Given the description of an element on the screen output the (x, y) to click on. 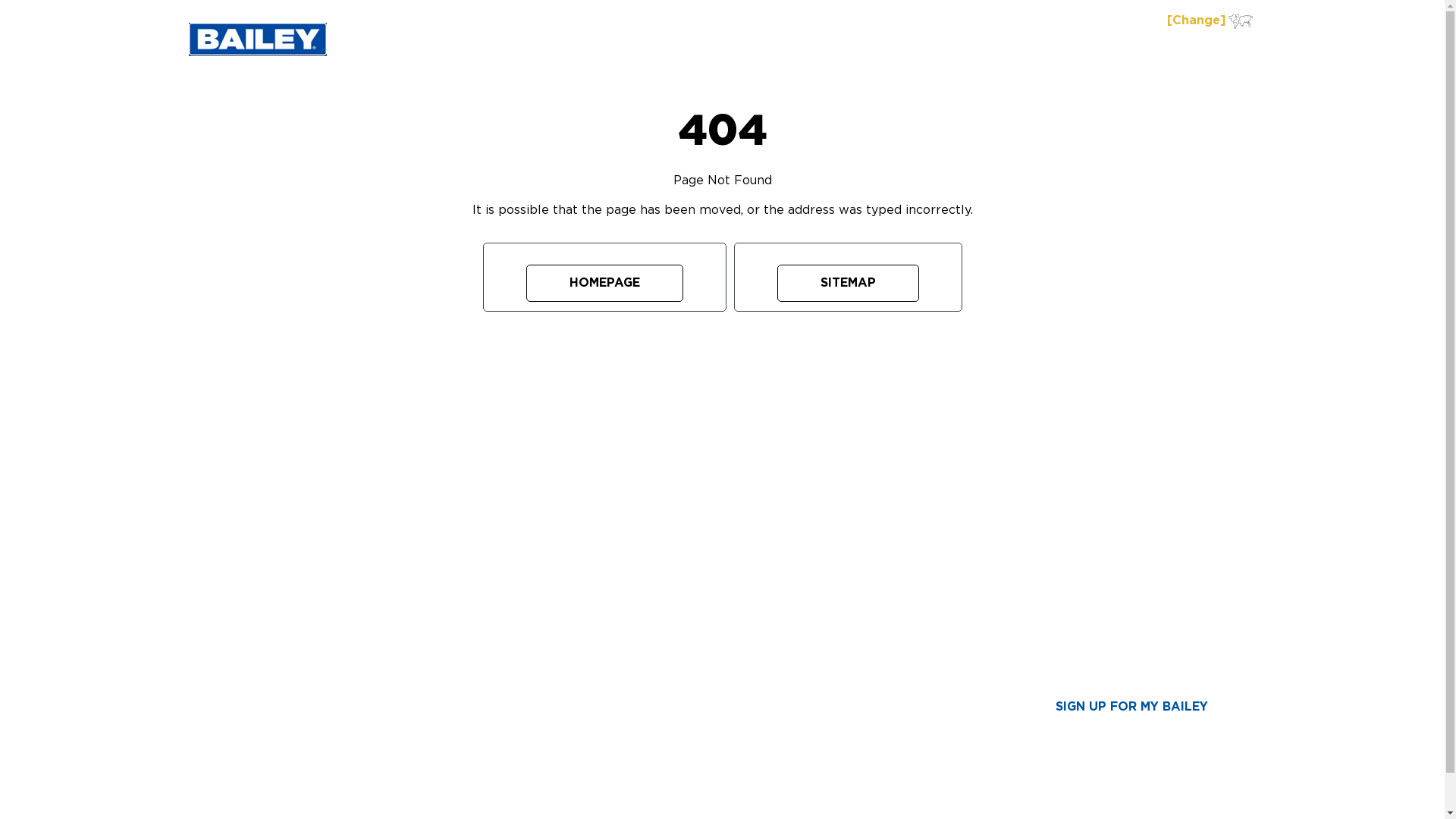
Product Registration Element type: text (483, 652)
Product Range Element type: text (278, 601)
Featured Products Element type: text (278, 669)
DEALER LOCATOR Element type: text (1046, 48)
My Bailey Element type: text (688, 652)
Warranty Against Defects Element type: text (893, 694)
News Releases Element type: text (688, 601)
Events Element type: text (688, 618)
Ladder Spares Element type: text (278, 652)
FALL PROTECTION Element type: text (830, 48)
Ladders Element type: text (278, 618)
Safety Element type: text (483, 601)
HOMEPAGE Element type: text (603, 276)
NEWS Element type: text (688, 572)
[Change] Element type: text (1195, 20)
Fall Protection Element type: text (278, 635)
Discover the Advantage Element type: text (893, 601)
Bailey Ladder Logo Element type: hover (257, 39)
Dealer Events Element type: text (688, 635)
COMPANY Element type: text (1214, 48)
Company History Element type: text (893, 635)
Privacy and Credit Reporting Element type: text (893, 661)
Brochures Element type: text (483, 635)
COMPANY Element type: text (893, 572)
SITEMAP Element type: text (848, 276)
PRODUCTS Element type: text (278, 572)
Legal Notices Element type: text (855, 771)
Asset Library Element type: text (893, 737)
Contact Us Element type: text (893, 754)
Careers Element type: text (893, 720)
Videos Element type: text (483, 618)
WernerCo World Map Element type: hover (1240, 20)
SUPPORT Element type: text (939, 48)
Why Bailey? Element type: text (893, 618)
NEWS Element type: text (1141, 48)
SIGN UP FOR MY BAILEY Element type: text (1131, 706)
SUPPORT Element type: text (483, 572)
PRODUCTS Element type: text (718, 48)
